Given the description of an element on the screen output the (x, y) to click on. 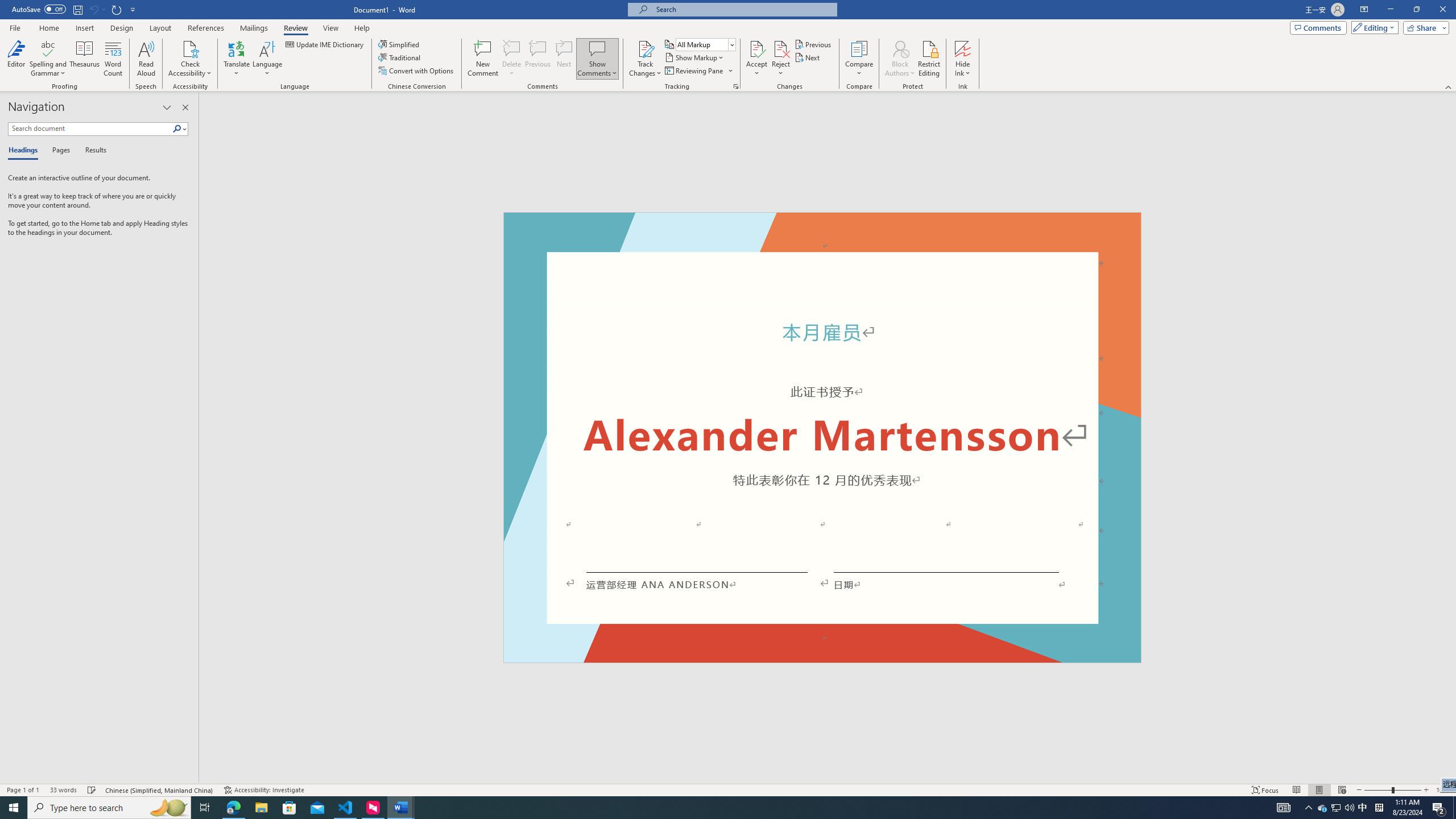
Display for Review (705, 44)
Block Authors (900, 58)
Save (77, 9)
Zoom Out (1377, 790)
Home (48, 28)
Convert with Options... (417, 69)
Compare (859, 58)
Editor (16, 58)
Show Comments (597, 48)
Can't Undo (92, 9)
File Tab (15, 27)
Restrict Editing (929, 58)
Restore Down (1416, 9)
Accept (756, 58)
